Given the description of an element on the screen output the (x, y) to click on. 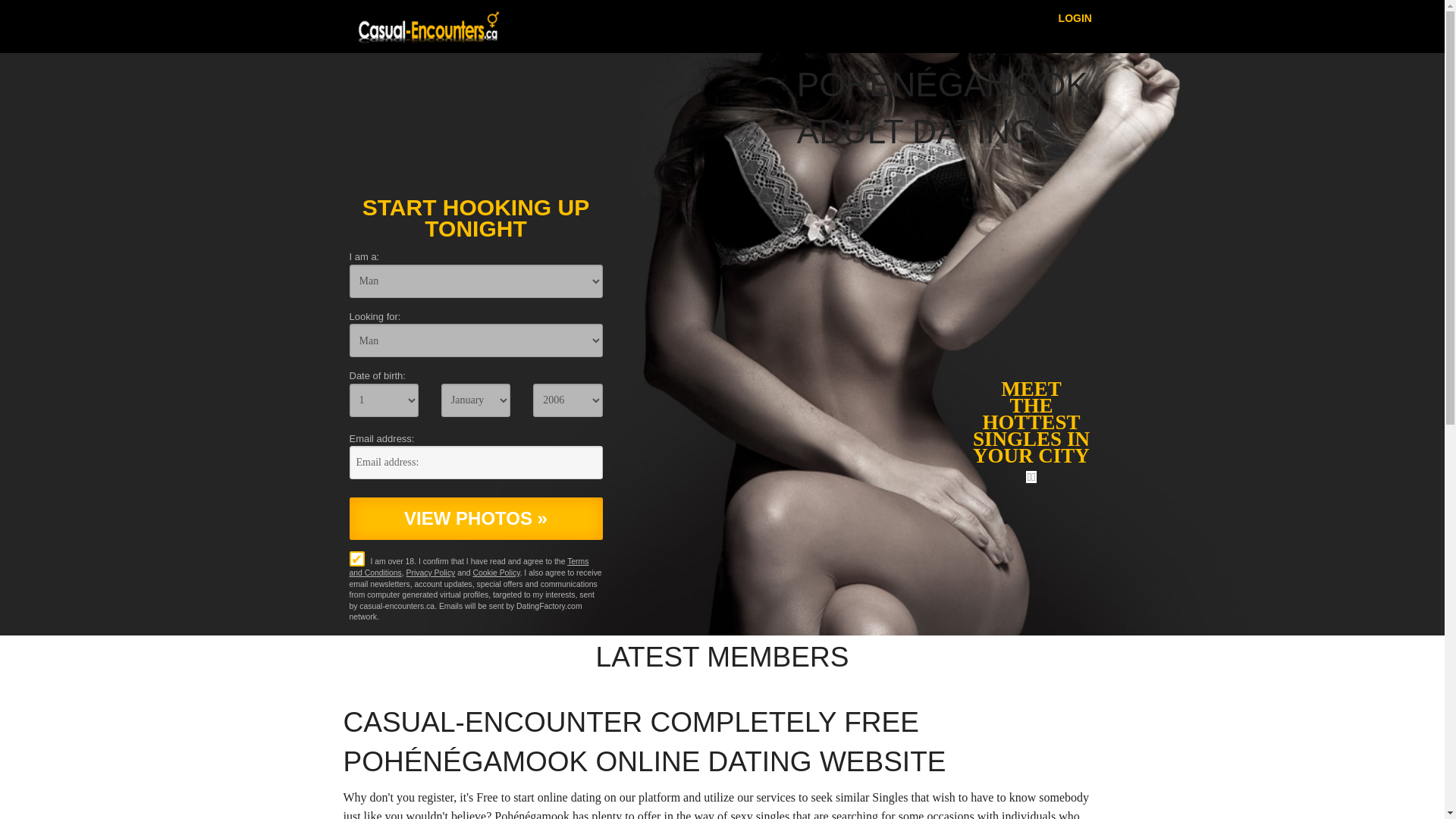
Cookie Policy (495, 572)
Terms and Conditions (468, 567)
Privacy Policy (430, 572)
LOGIN (1074, 17)
